Given the description of an element on the screen output the (x, y) to click on. 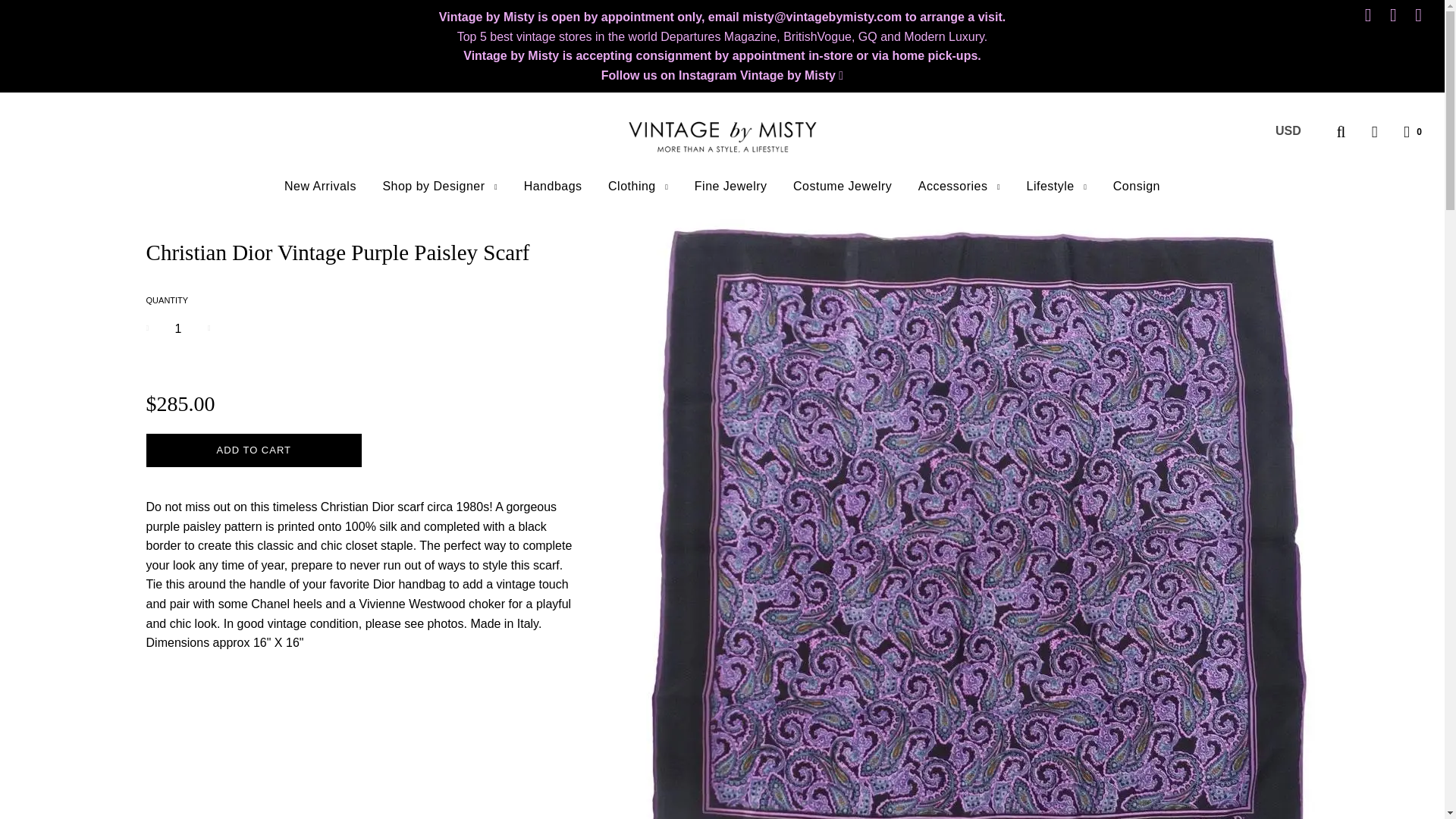
1 (179, 329)
